Given the description of an element on the screen output the (x, y) to click on. 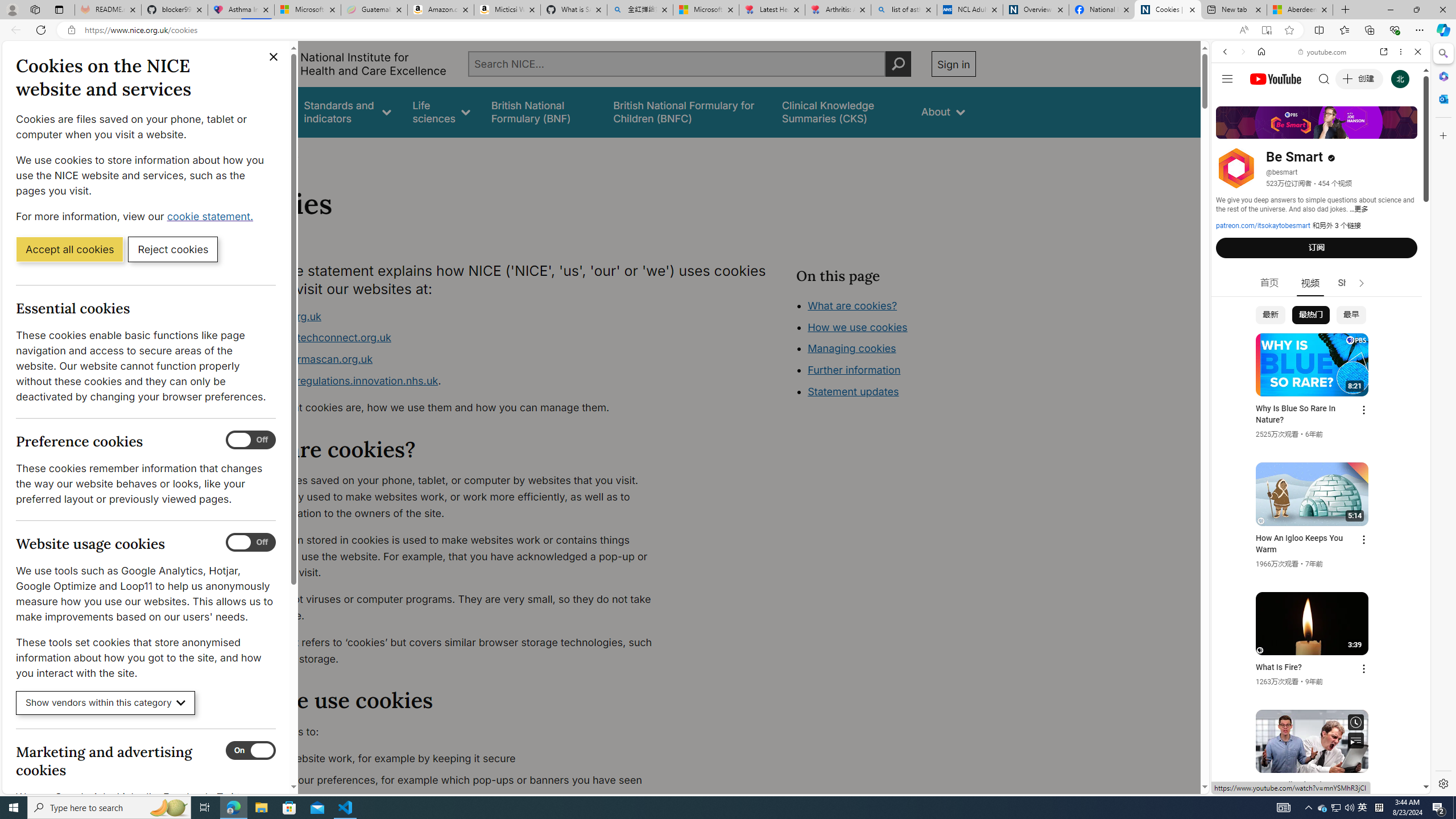
www.healthtechconnect.org.uk (314, 337)
Perform search (898, 63)
Class: dict_pnIcon rms_img (1312, 784)
false (841, 111)
Search videos from youtube.com (1299, 373)
